Given the description of an element on the screen output the (x, y) to click on. 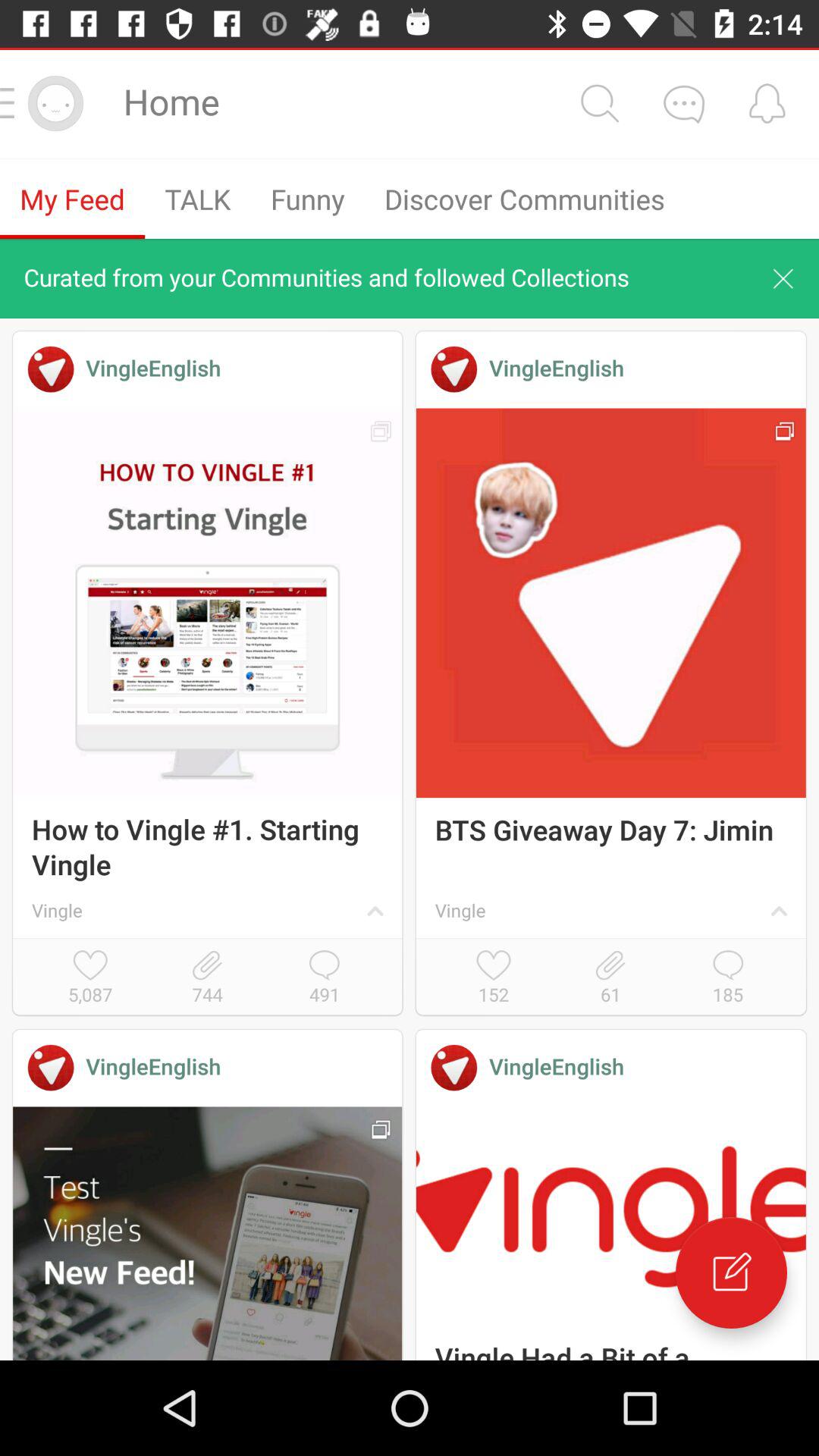
launch the item to the right of 744 item (324, 978)
